Given the description of an element on the screen output the (x, y) to click on. 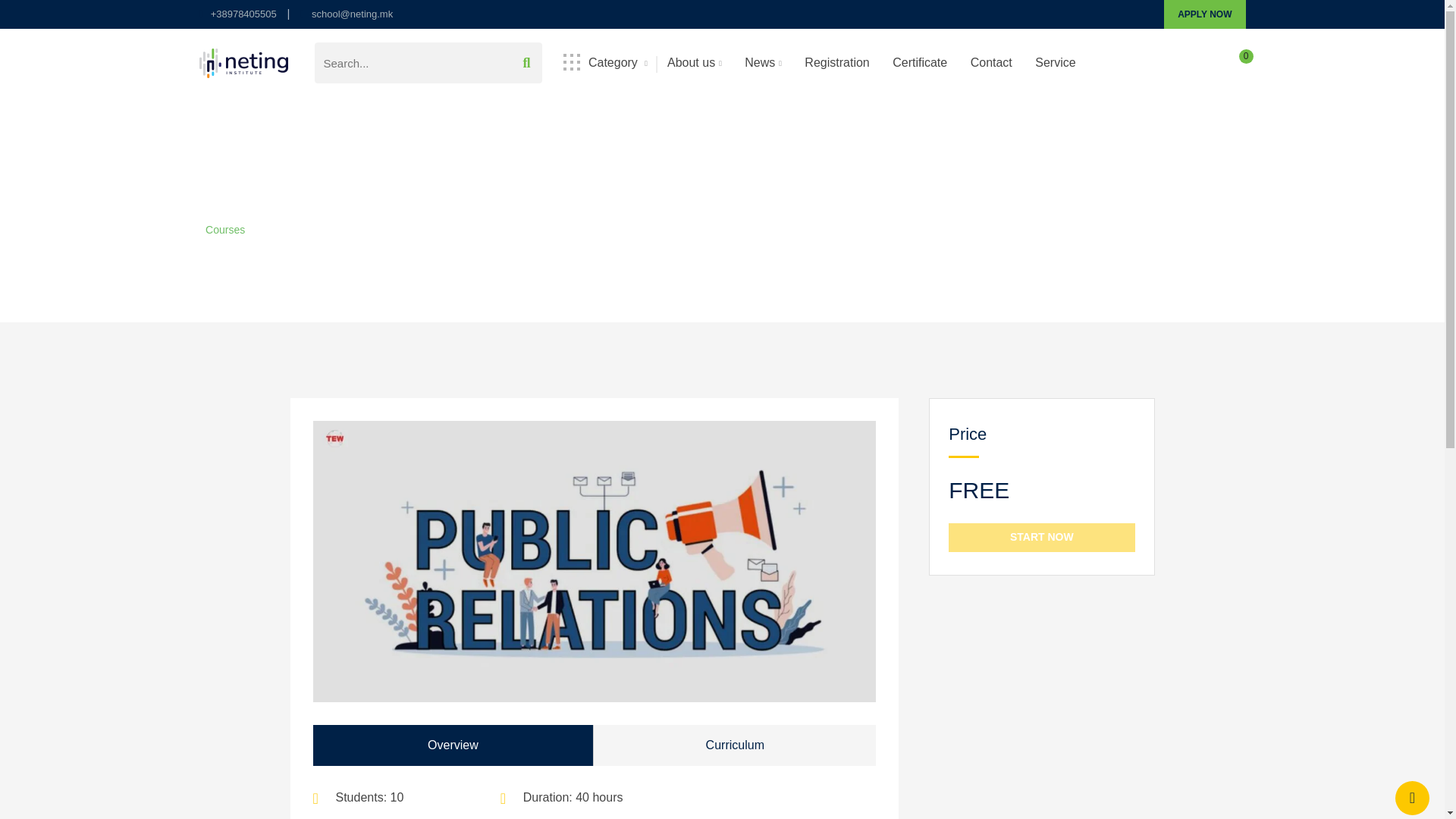
Category (605, 62)
Go to Courses. (224, 229)
APPLY NOW (1203, 14)
